Given the description of an element on the screen output the (x, y) to click on. 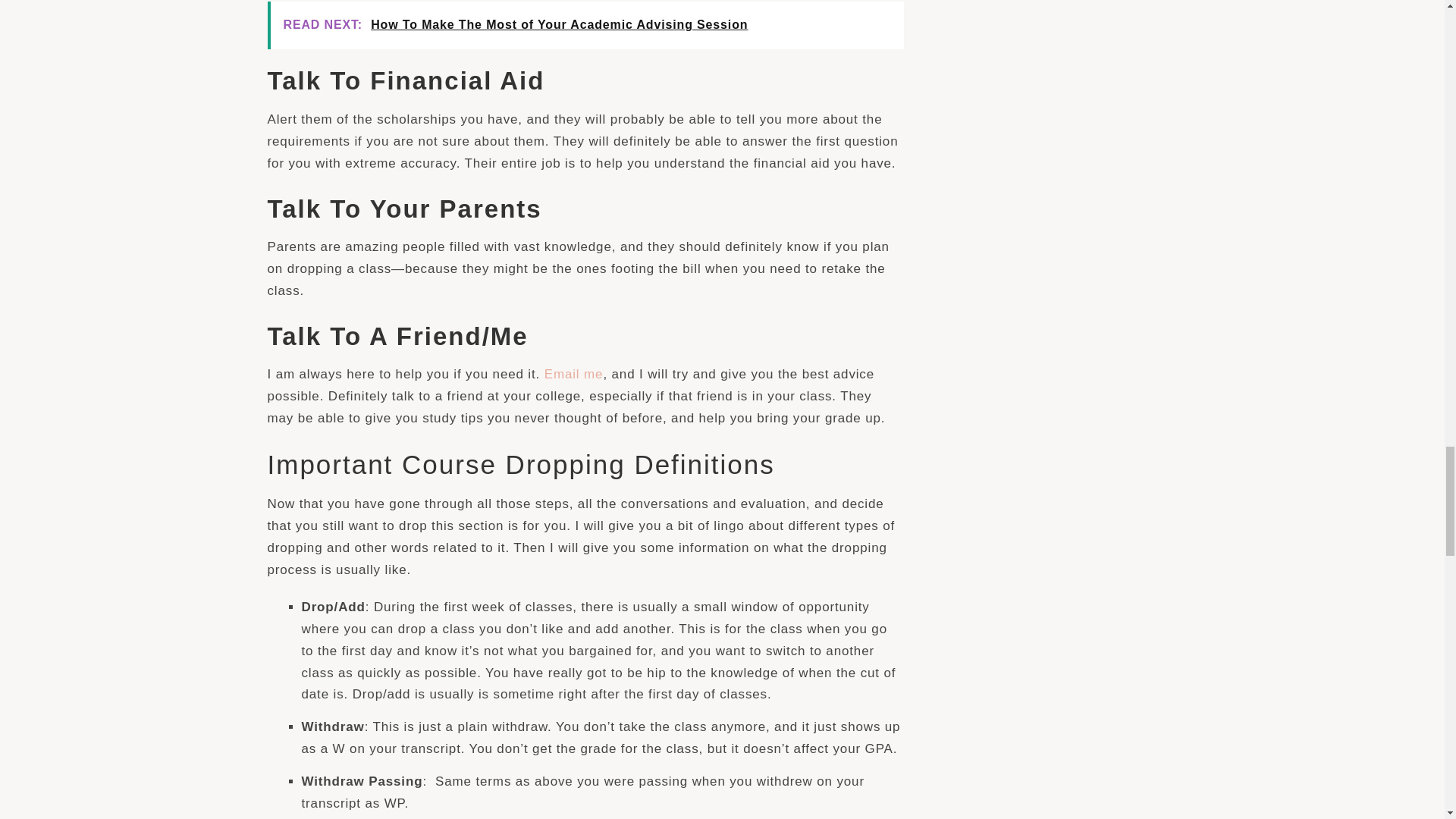
Contact (574, 373)
Email me (574, 373)
